Given the description of an element on the screen output the (x, y) to click on. 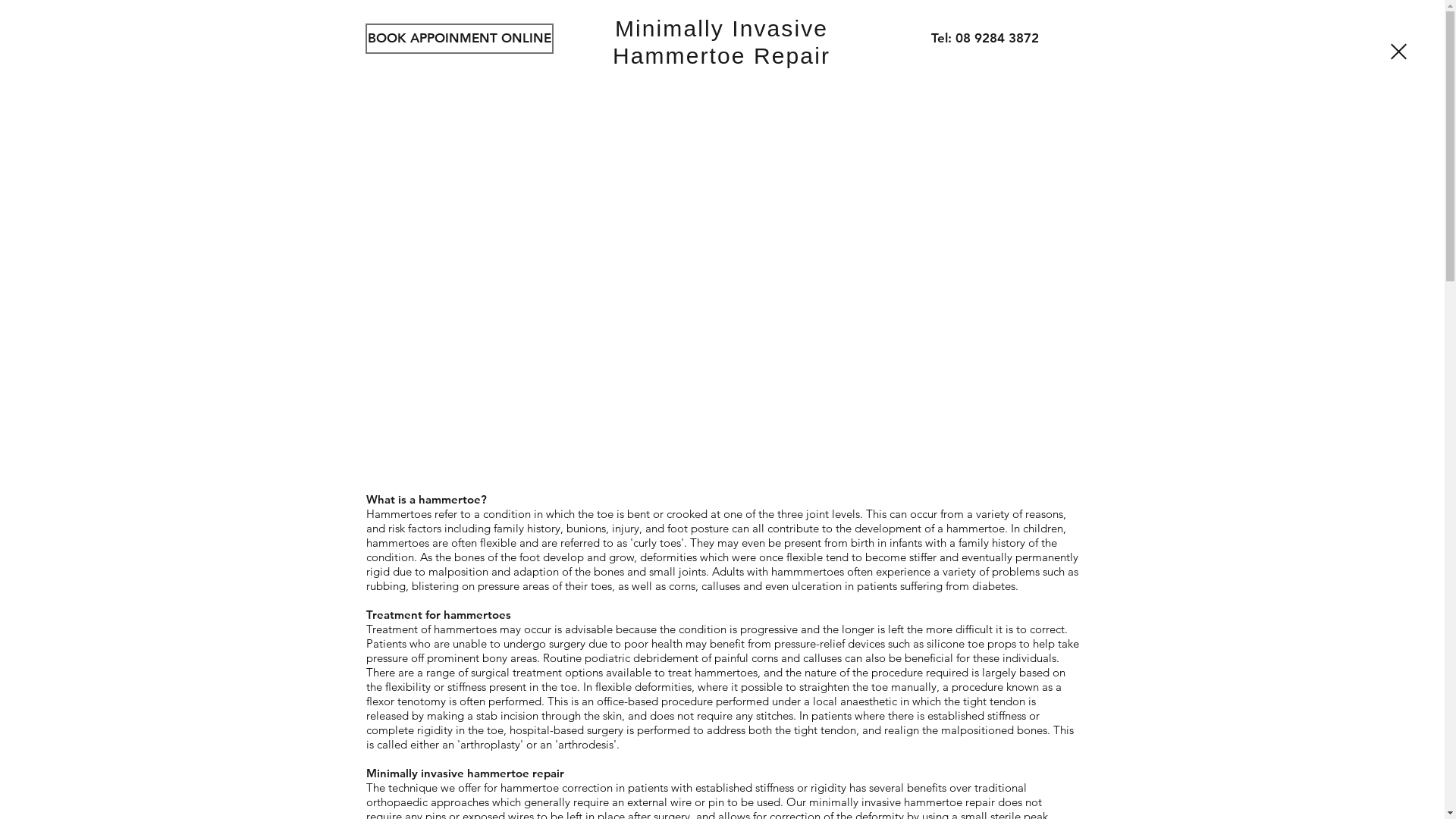
Tel: 08 9284 3872 Element type: text (984, 38)
BOOK APPOINMENT ONLINE Element type: text (459, 38)
